Given the description of an element on the screen output the (x, y) to click on. 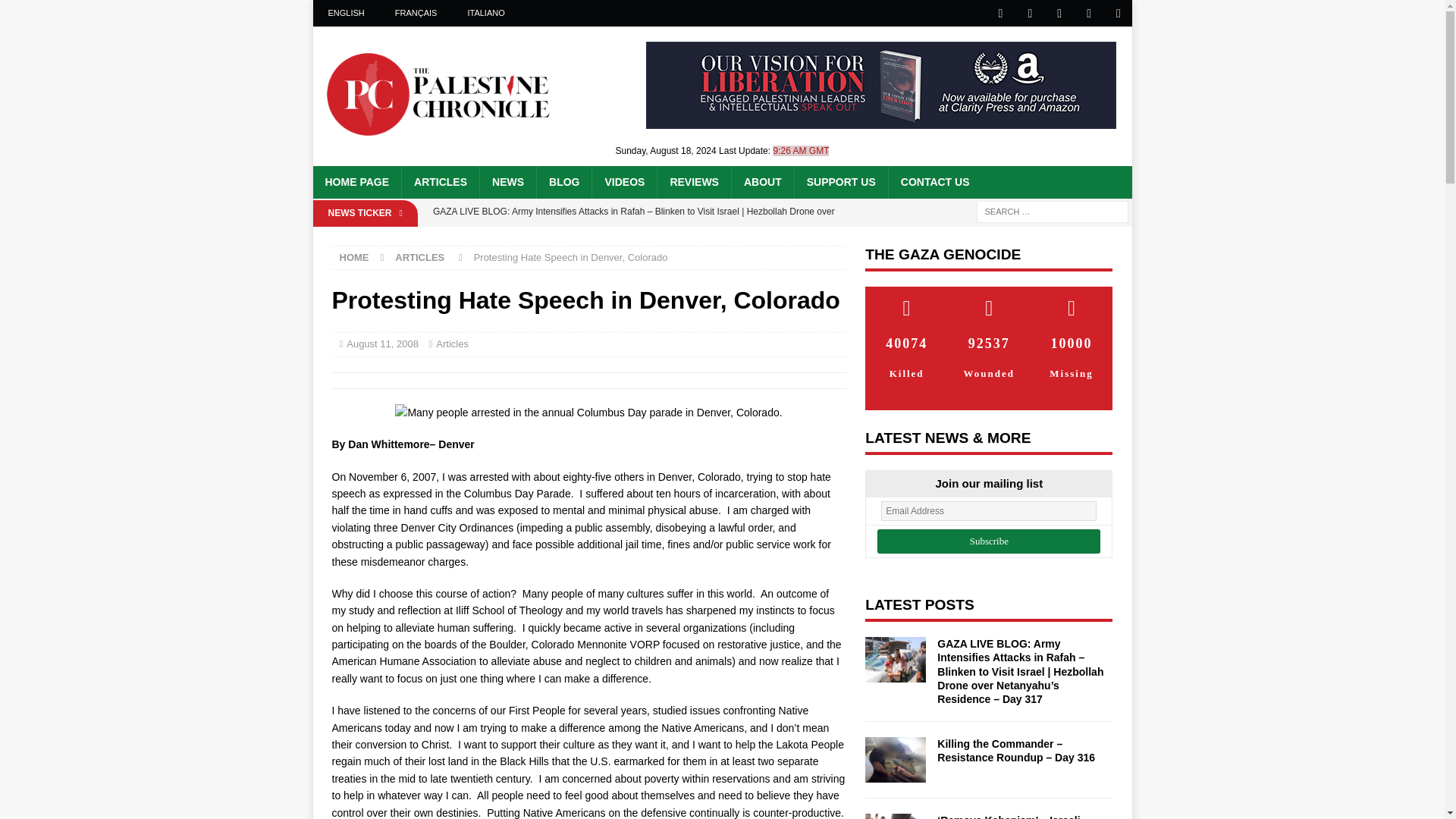
ARTICLES (440, 182)
Articles (451, 343)
THE GAZA GENOCIDE (942, 254)
VIDEOS (623, 182)
ABOUT (761, 182)
REVIEWS (693, 182)
HOME (354, 256)
ENGLISH (345, 13)
NEWS (507, 182)
